Given the description of an element on the screen output the (x, y) to click on. 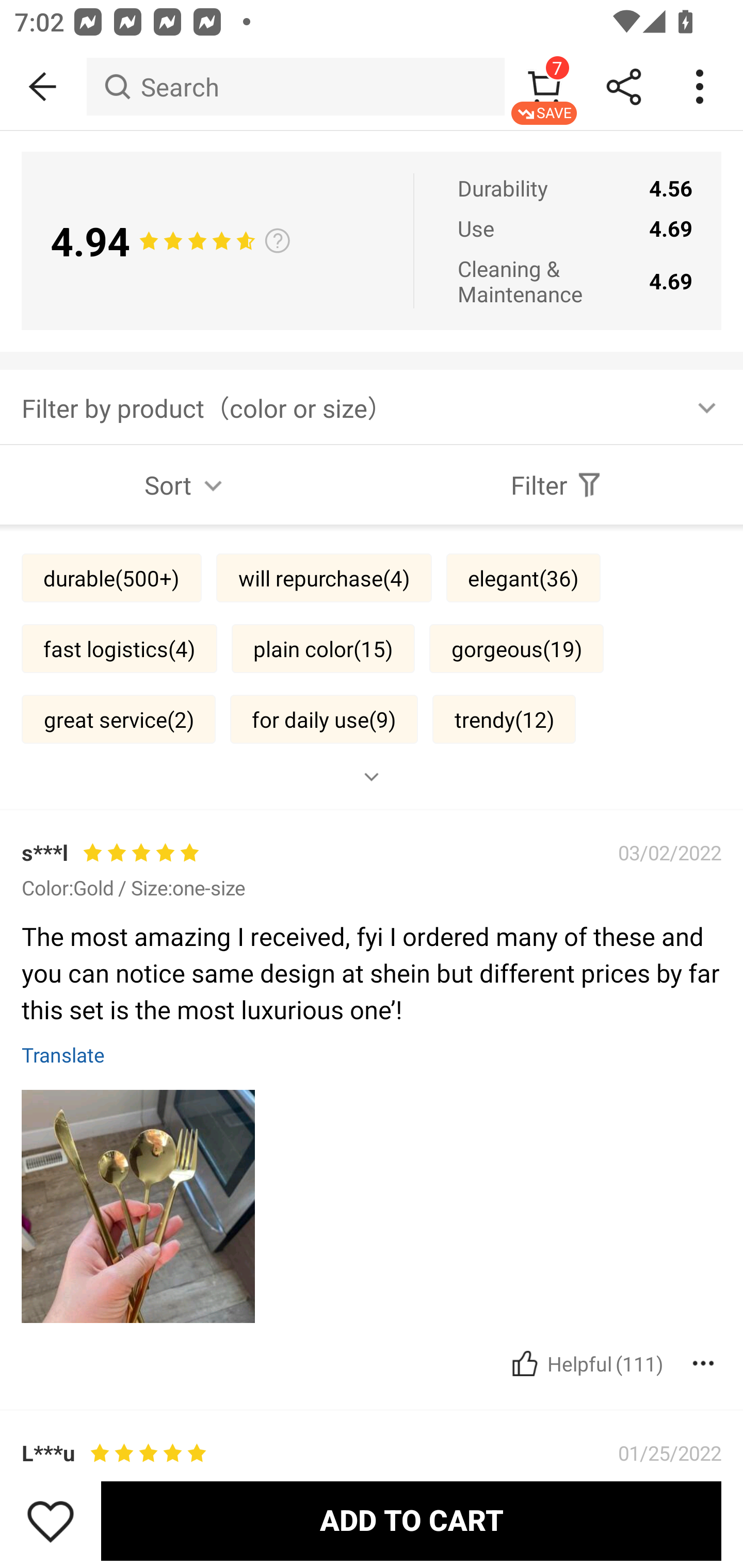
BACK (43, 86)
7 SAVE (543, 87)
Search (295, 87)
Sort (185, 485)
Filter (557, 485)
durable(500‎+) (111, 577)
will repurchase(4) (323, 577)
elegant(36) (523, 577)
fast logistics(4) (118, 648)
plain color(15) (322, 648)
gorgeous(19) (516, 648)
great service(2) (118, 718)
for daily use(9) (323, 718)
trendy(12) (503, 718)
Translate (62, 1054)
Cancel Helpful Was this article helpful? (111) (585, 1362)
ADD TO CART (411, 1520)
Save (50, 1520)
